Given the description of an element on the screen output the (x, y) to click on. 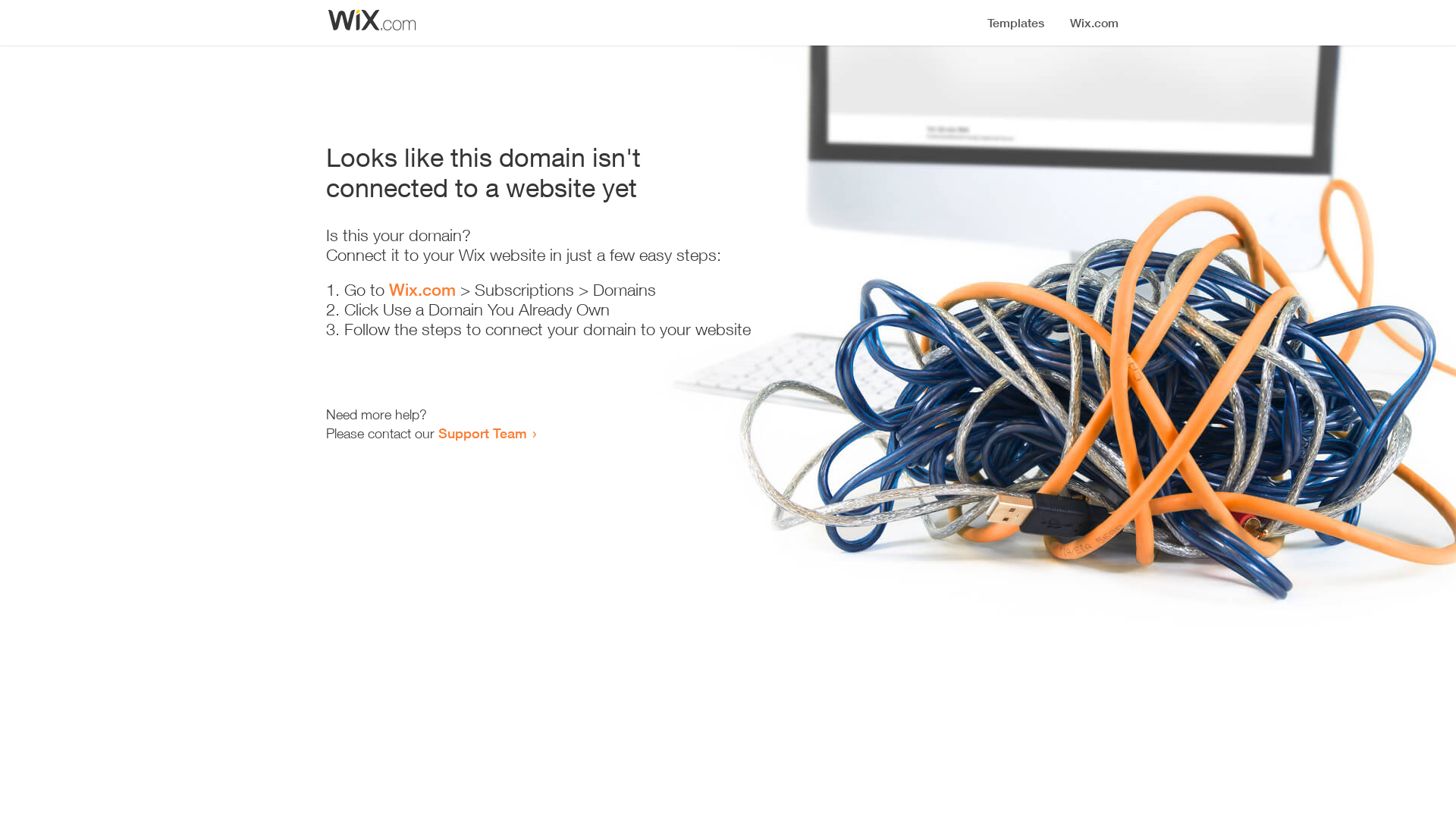
Wix.com Element type: text (422, 289)
Support Team Element type: text (482, 432)
